Given the description of an element on the screen output the (x, y) to click on. 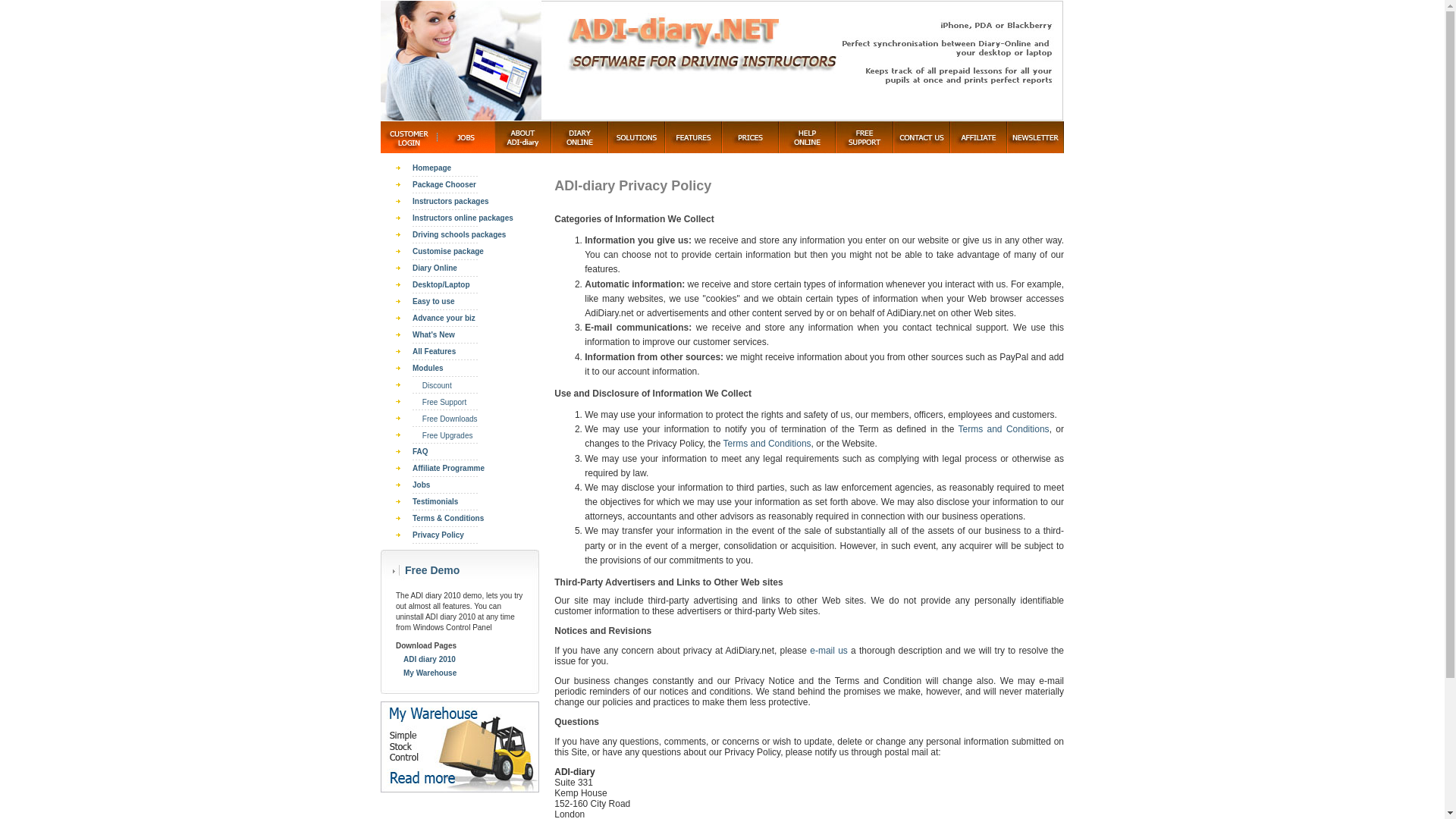
All Features (433, 351)
Diary Online (434, 267)
Easy to use (433, 301)
Free Upgrades (445, 434)
Jobs (420, 484)
Discount (435, 384)
Driving schools packages (458, 234)
Modules (428, 367)
Customise package (447, 251)
Instructors packages (450, 201)
